Given the description of an element on the screen output the (x, y) to click on. 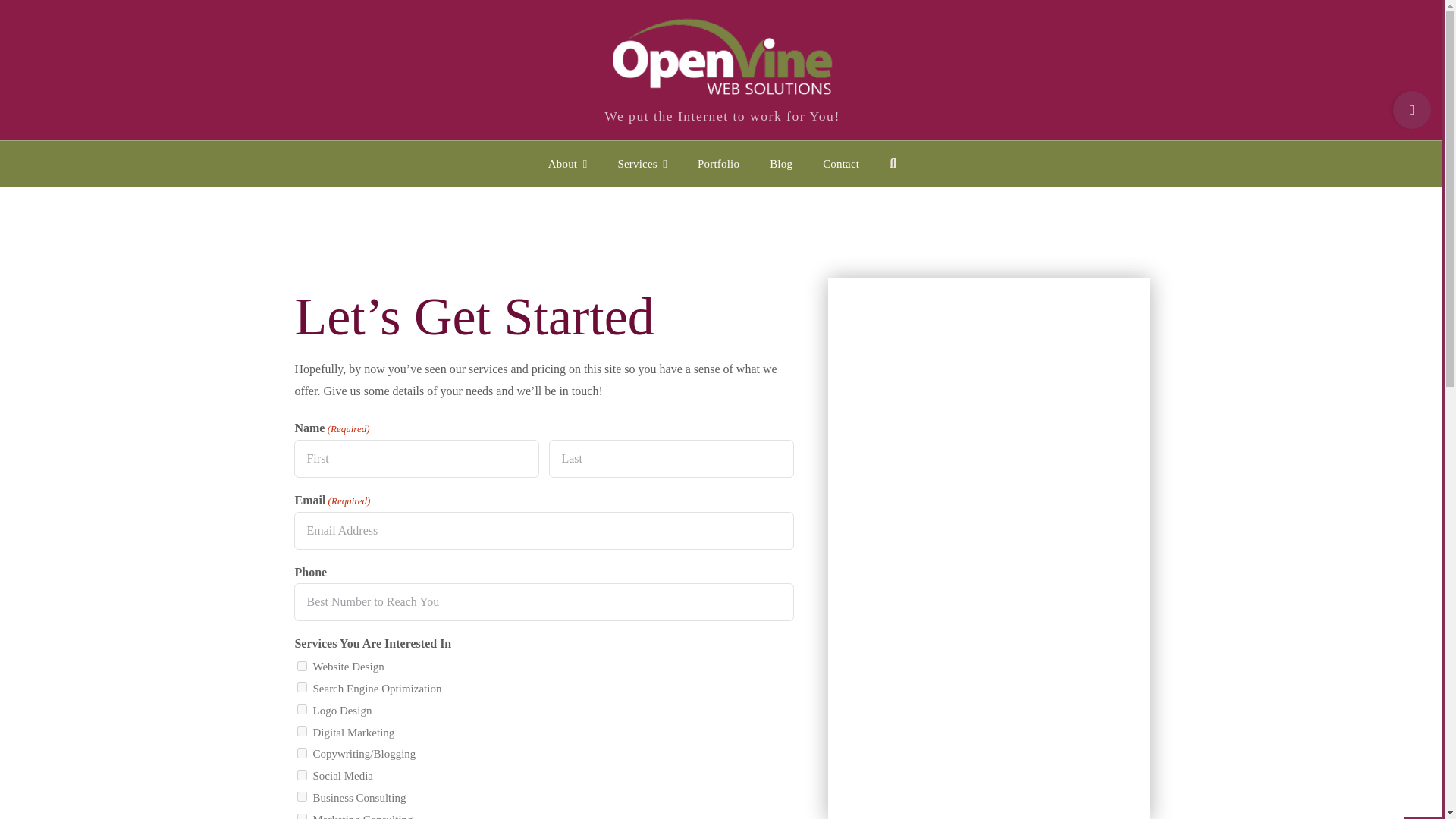
Website Design (302, 665)
Search Engine Optimization (302, 687)
Digital Marketing (302, 731)
Social Media (302, 775)
Business Consulting (302, 796)
Logo Design (302, 709)
Blog (781, 163)
About (567, 163)
Contact (841, 163)
logo openvine 300r Lets Get Started (722, 51)
